Given the description of an element on the screen output the (x, y) to click on. 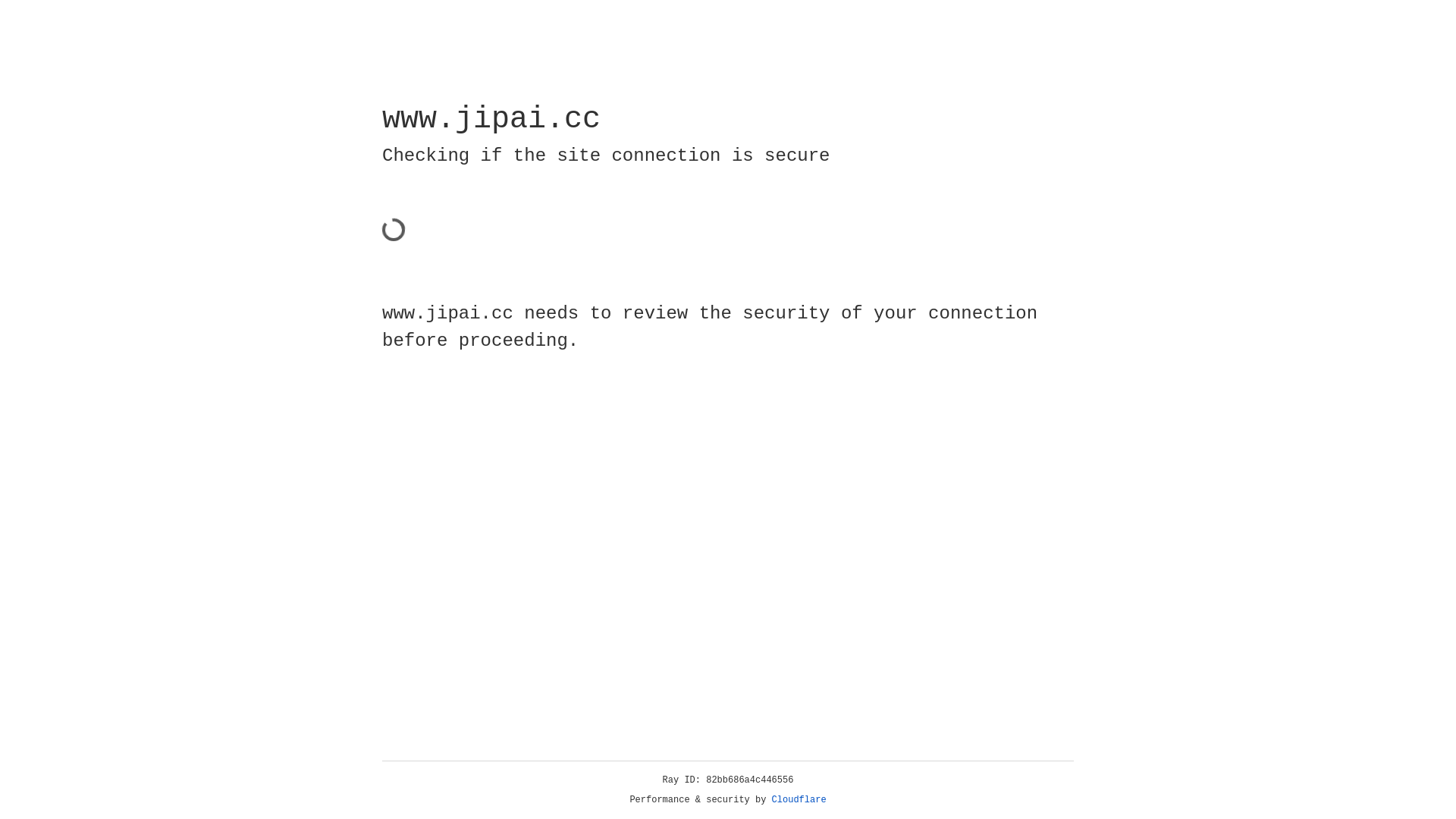
Cloudflare Element type: text (798, 799)
